Given the description of an element on the screen output the (x, y) to click on. 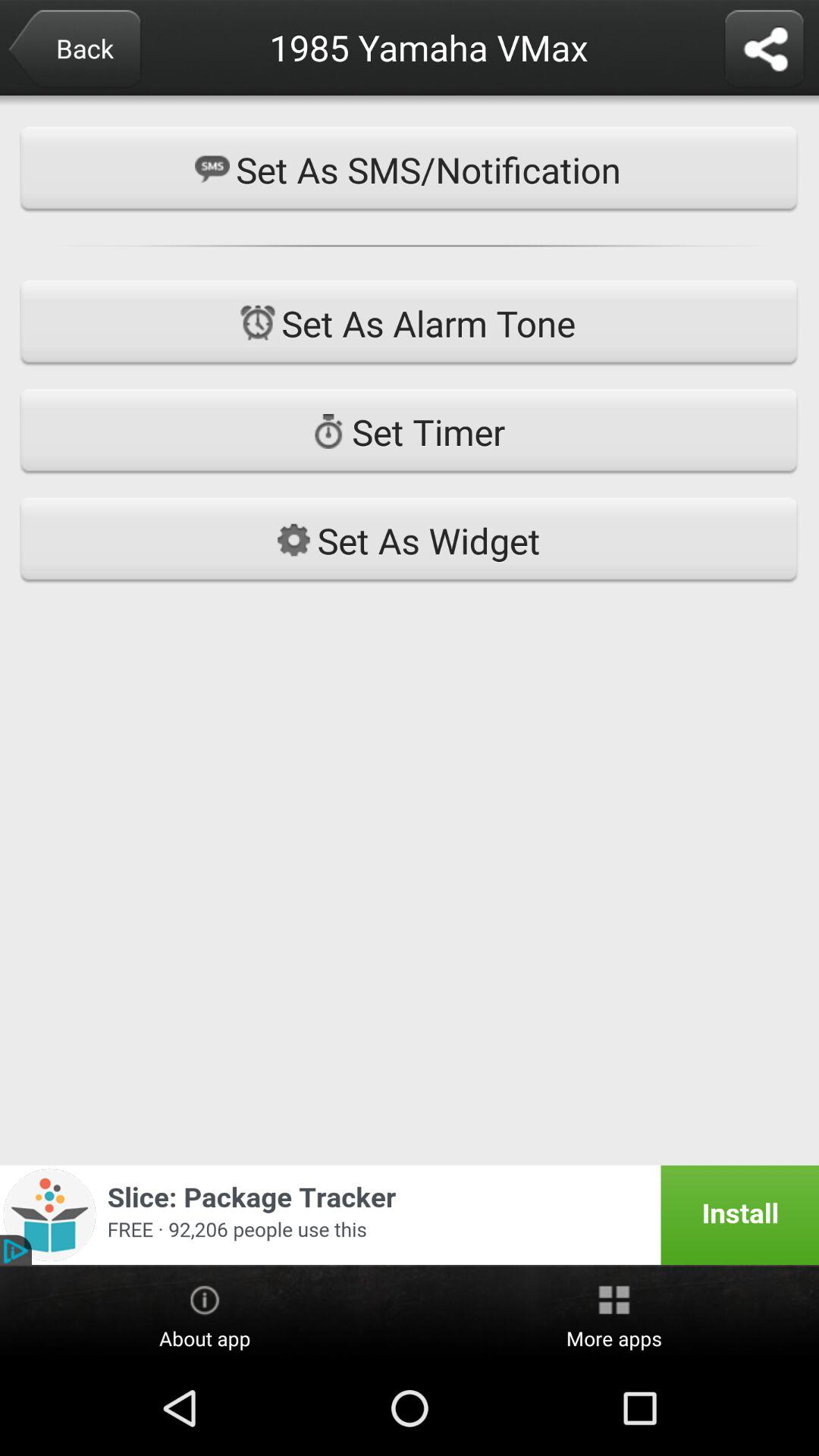
open the item at the top right corner (764, 50)
